Given the description of an element on the screen output the (x, y) to click on. 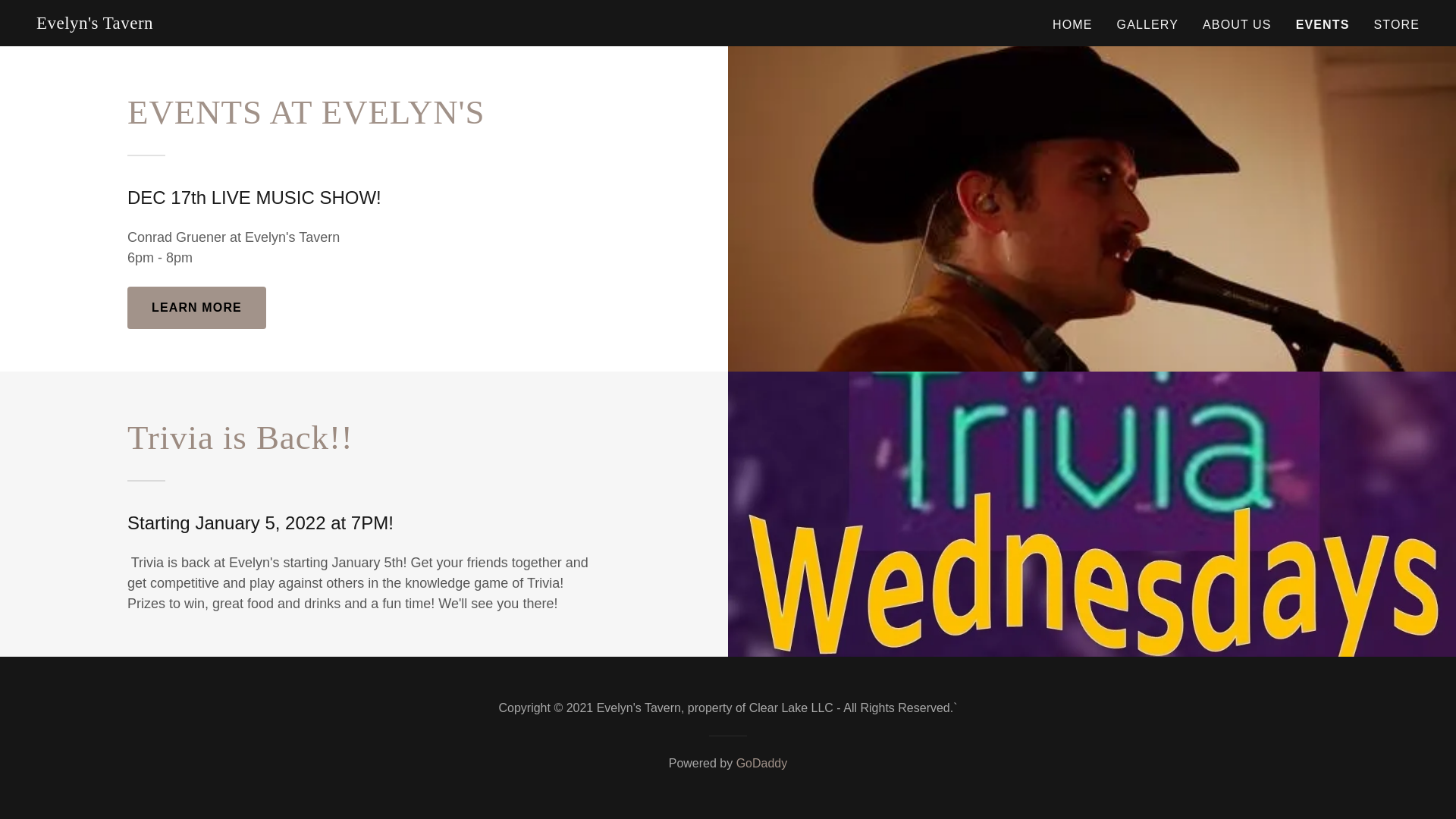
GALLERY (1147, 24)
EVENTS (1322, 24)
Evelyn's Tavern (94, 23)
GoDaddy (761, 762)
STORE (1395, 24)
LEARN MORE (197, 307)
Evelyn's Tavern (94, 23)
HOME (1072, 24)
ABOUT US (1237, 24)
